Given the description of an element on the screen output the (x, y) to click on. 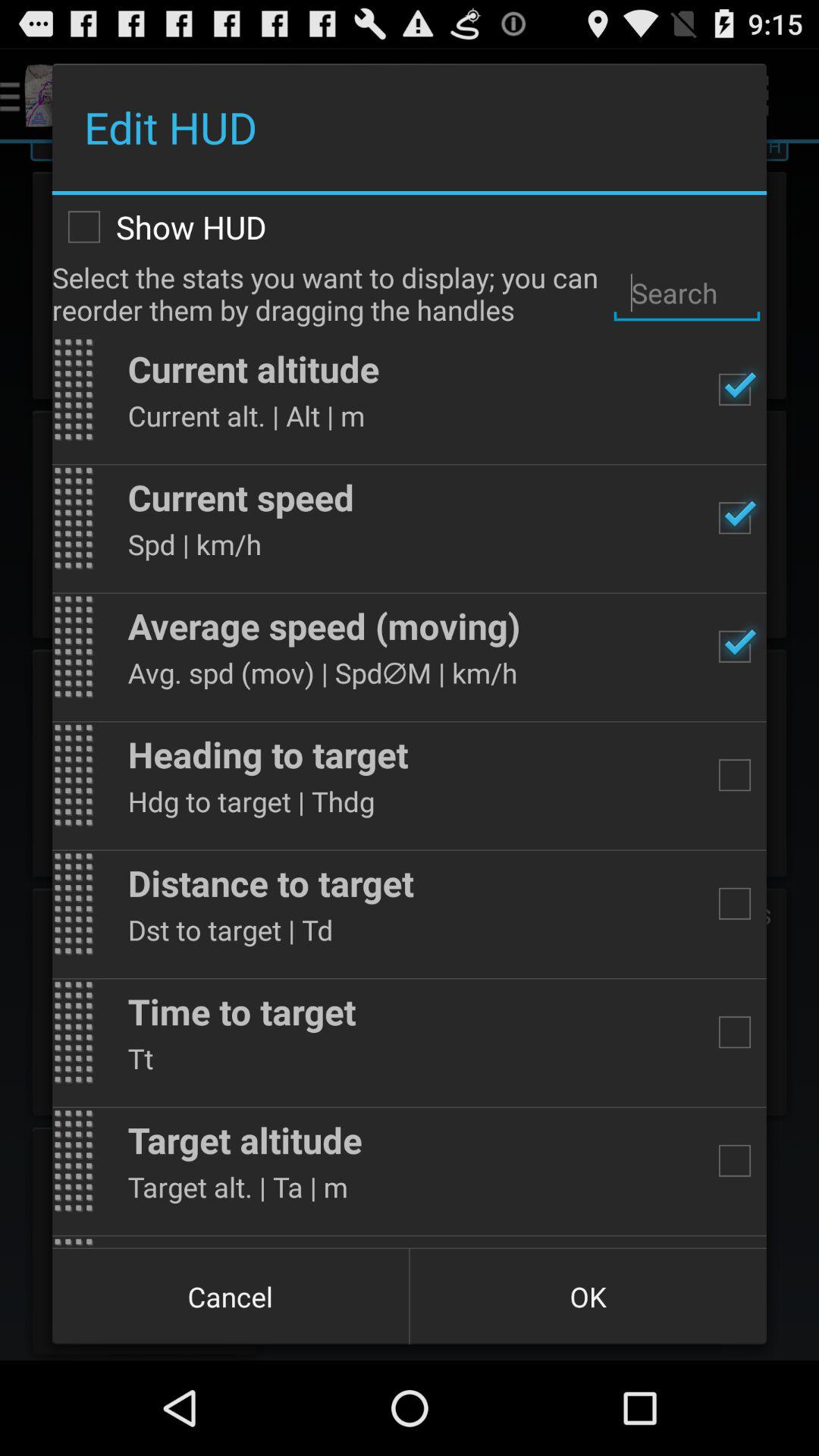
tap show hud (409, 226)
